Given the description of an element on the screen output the (x, y) to click on. 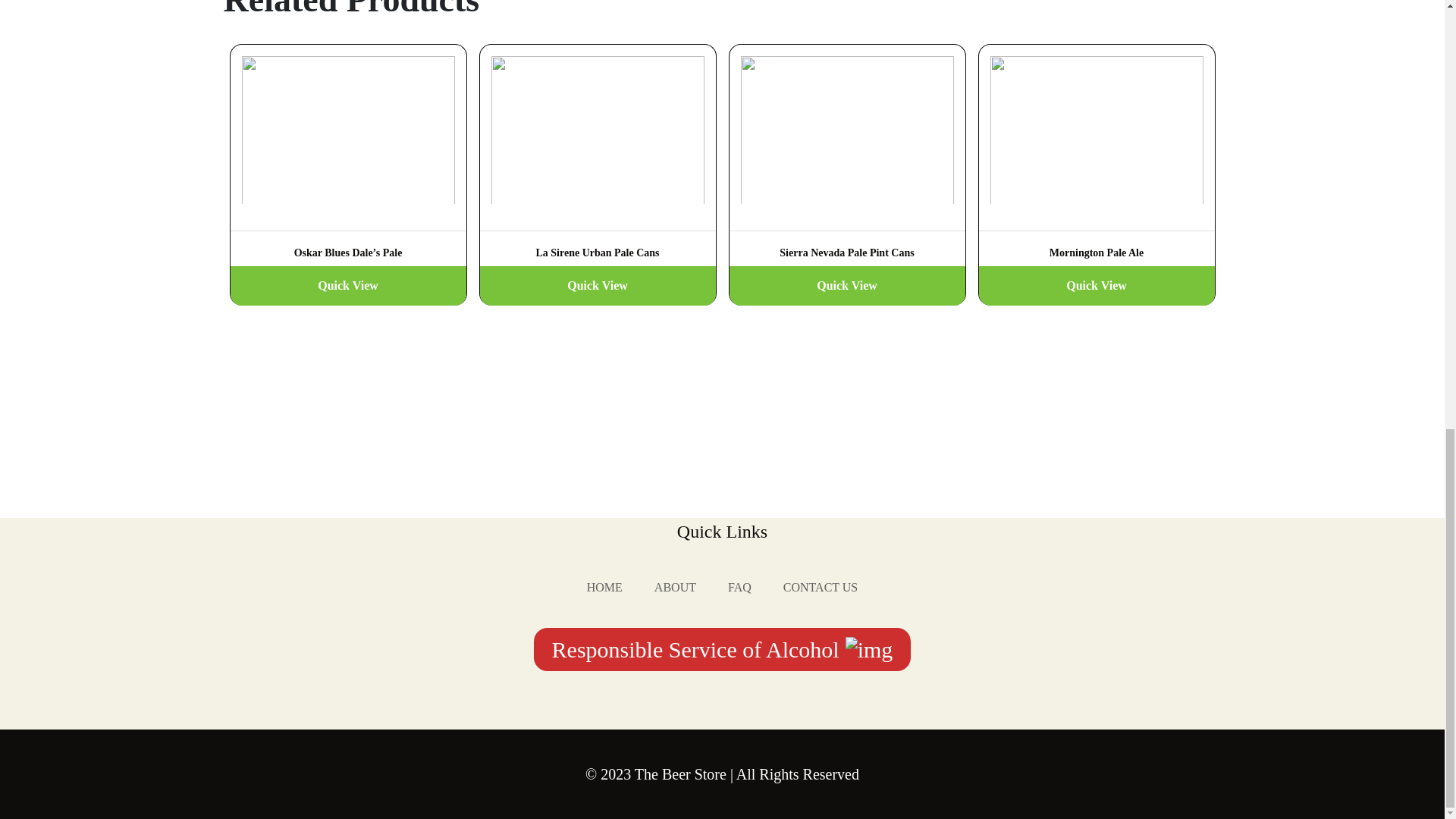
La Sirene Urban Pale Cans (596, 155)
Sierra Nevada Pale Pint Cans (847, 155)
Buy Now (347, 288)
Buy Now (596, 288)
